Given the description of an element on the screen output the (x, y) to click on. 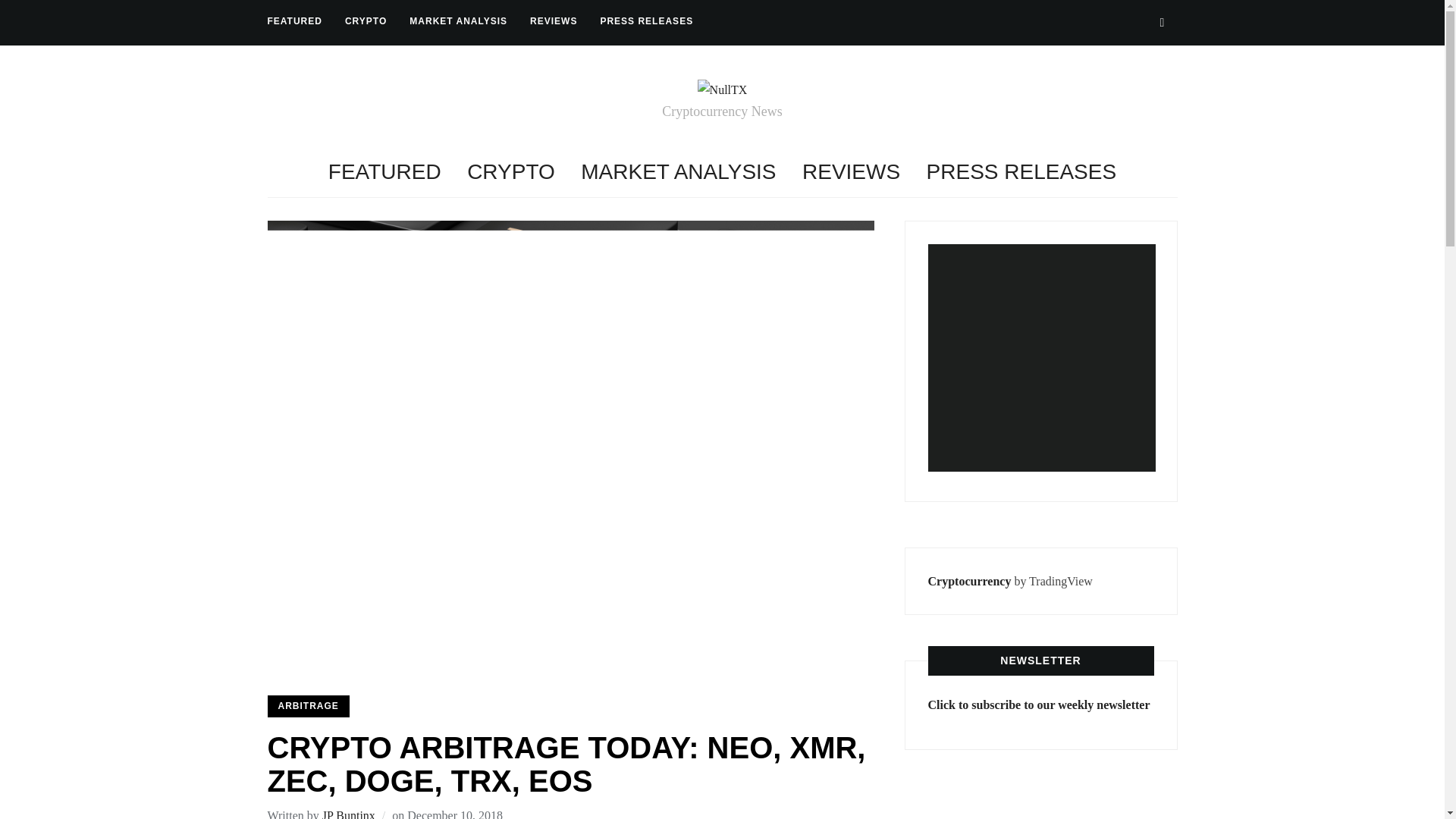
FEATURED (293, 21)
MARKET ANALYSIS (678, 171)
MARKET ANALYSIS (457, 21)
CRYPTO (510, 171)
JP Buntinx (348, 814)
Posts by JP Buntinx (348, 814)
CRYPTO (366, 21)
REVIEWS (552, 21)
PRESS RELEASES (1021, 171)
Coin360.com: Cryptocurrency Market State (1042, 357)
